Given the description of an element on the screen output the (x, y) to click on. 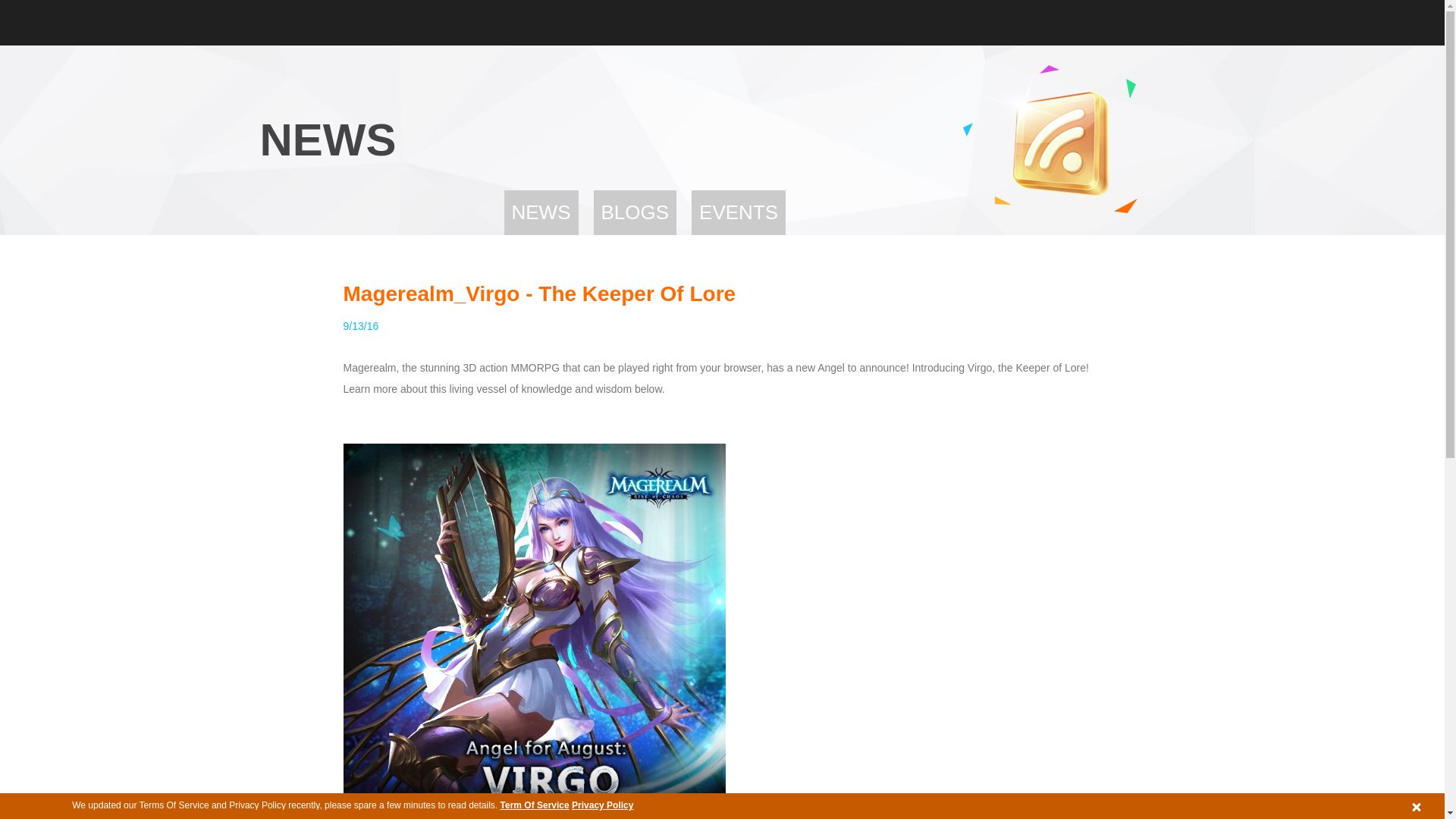
Privacy Policy (602, 804)
Term Of Service (534, 804)
EVENTS (738, 212)
NEWS (540, 212)
BLOGS (634, 212)
